Given the description of an element on the screen output the (x, y) to click on. 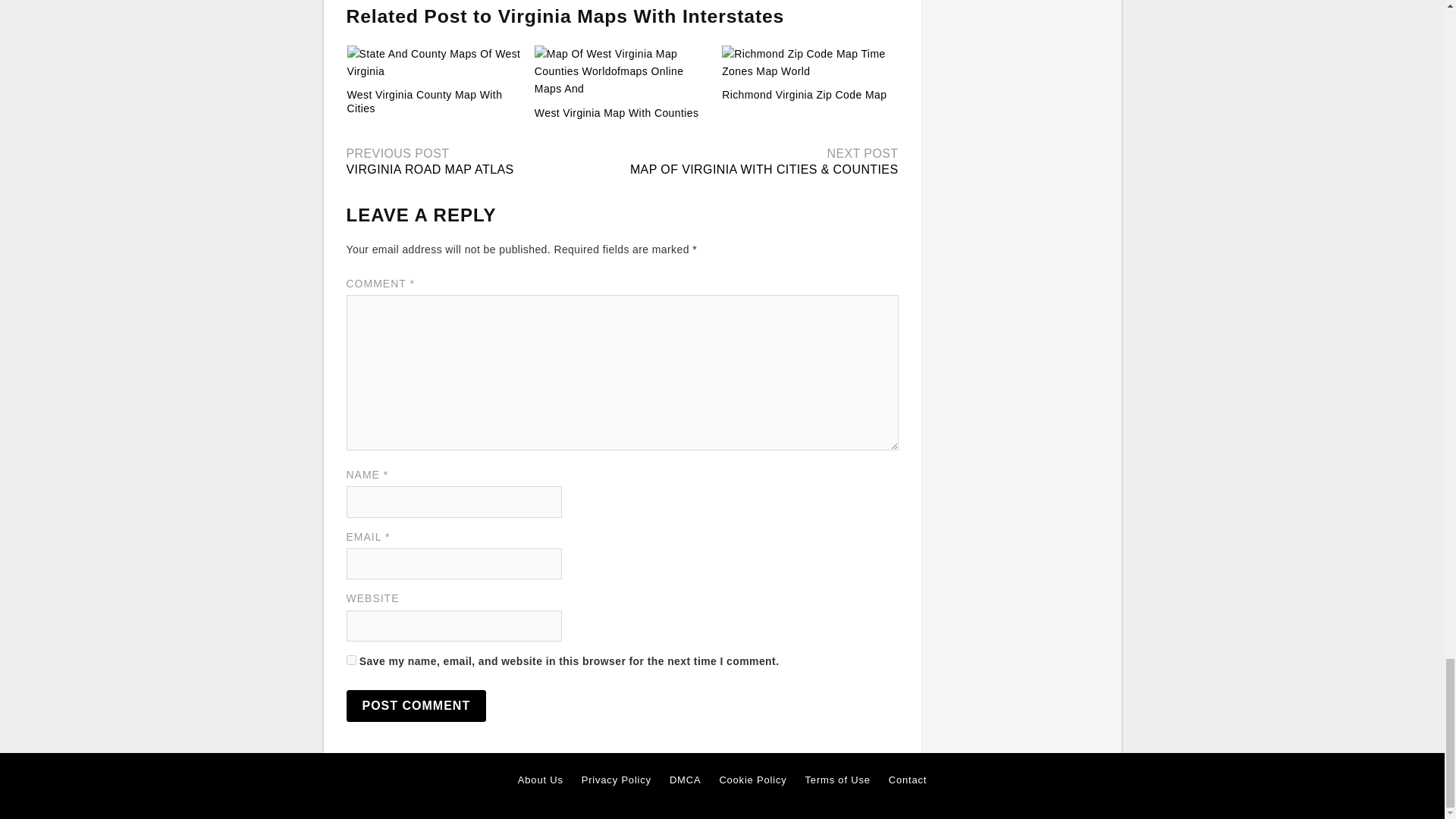
yes (350, 660)
West Virginia County Map With Cities (424, 101)
Post Comment (416, 705)
